Given the description of an element on the screen output the (x, y) to click on. 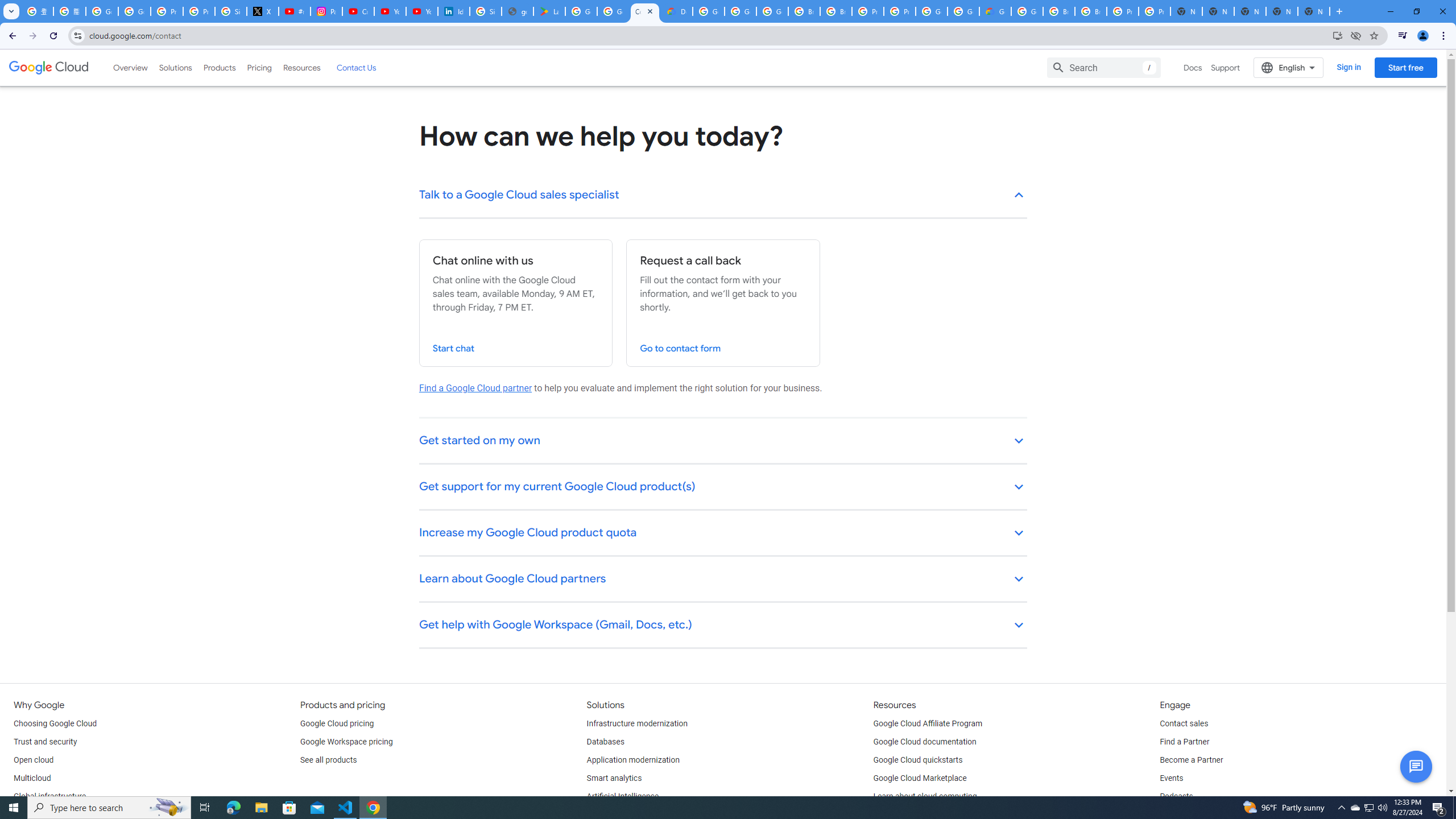
Global infrastructure (49, 796)
Multicloud (31, 778)
Install Google Cloud (1336, 35)
Google Cloud Platform (1027, 11)
Trust and security (45, 742)
Google Workspace pricing (346, 742)
Learn about cloud computing (924, 796)
Google Cloud (48, 67)
Become a Partner (1190, 760)
Solutions (175, 67)
